Given the description of an element on the screen output the (x, y) to click on. 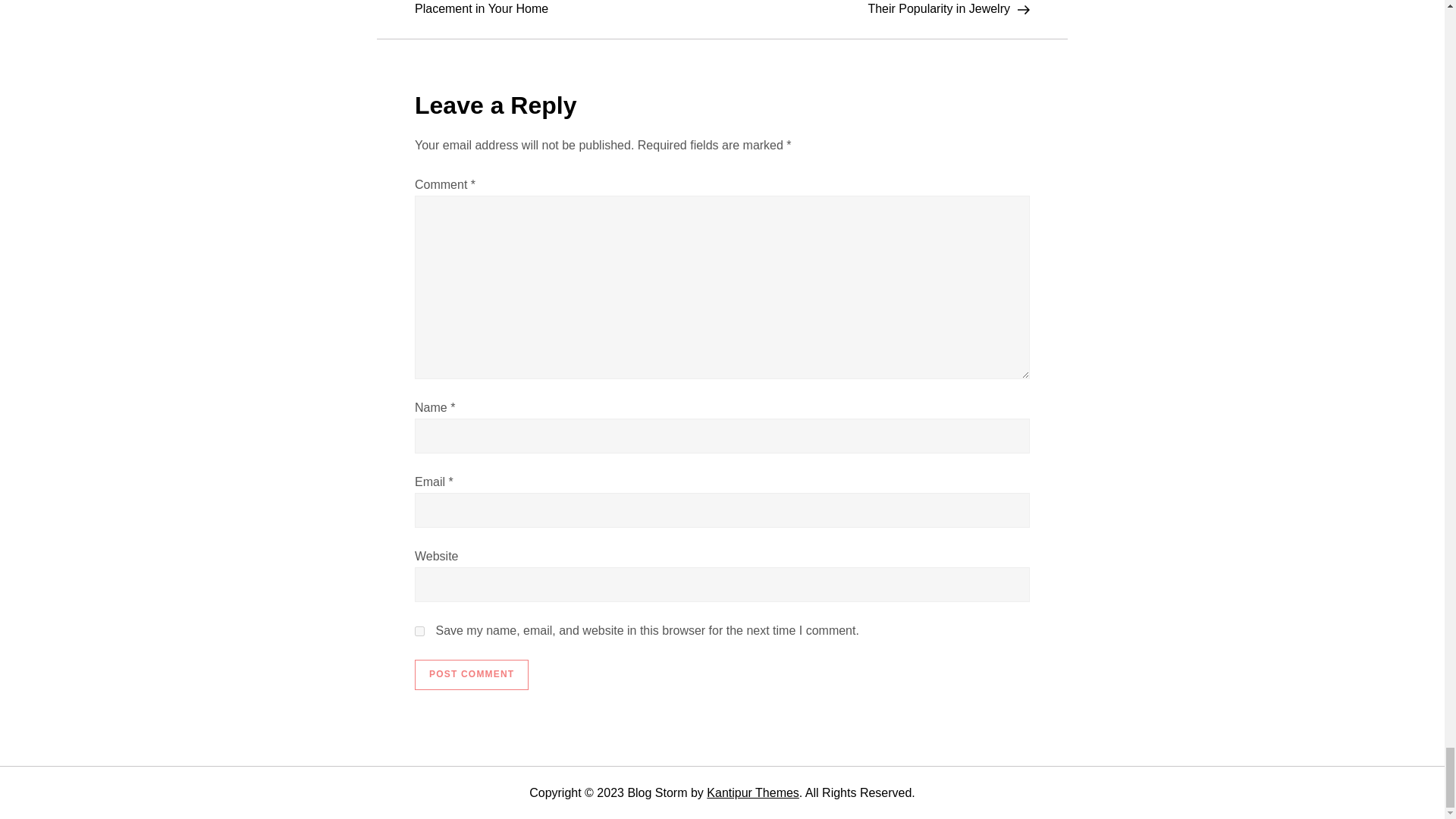
Post Comment (471, 675)
Kantipur Themes (752, 792)
Post Comment (471, 675)
yes (419, 631)
